Given the description of an element on the screen output the (x, y) to click on. 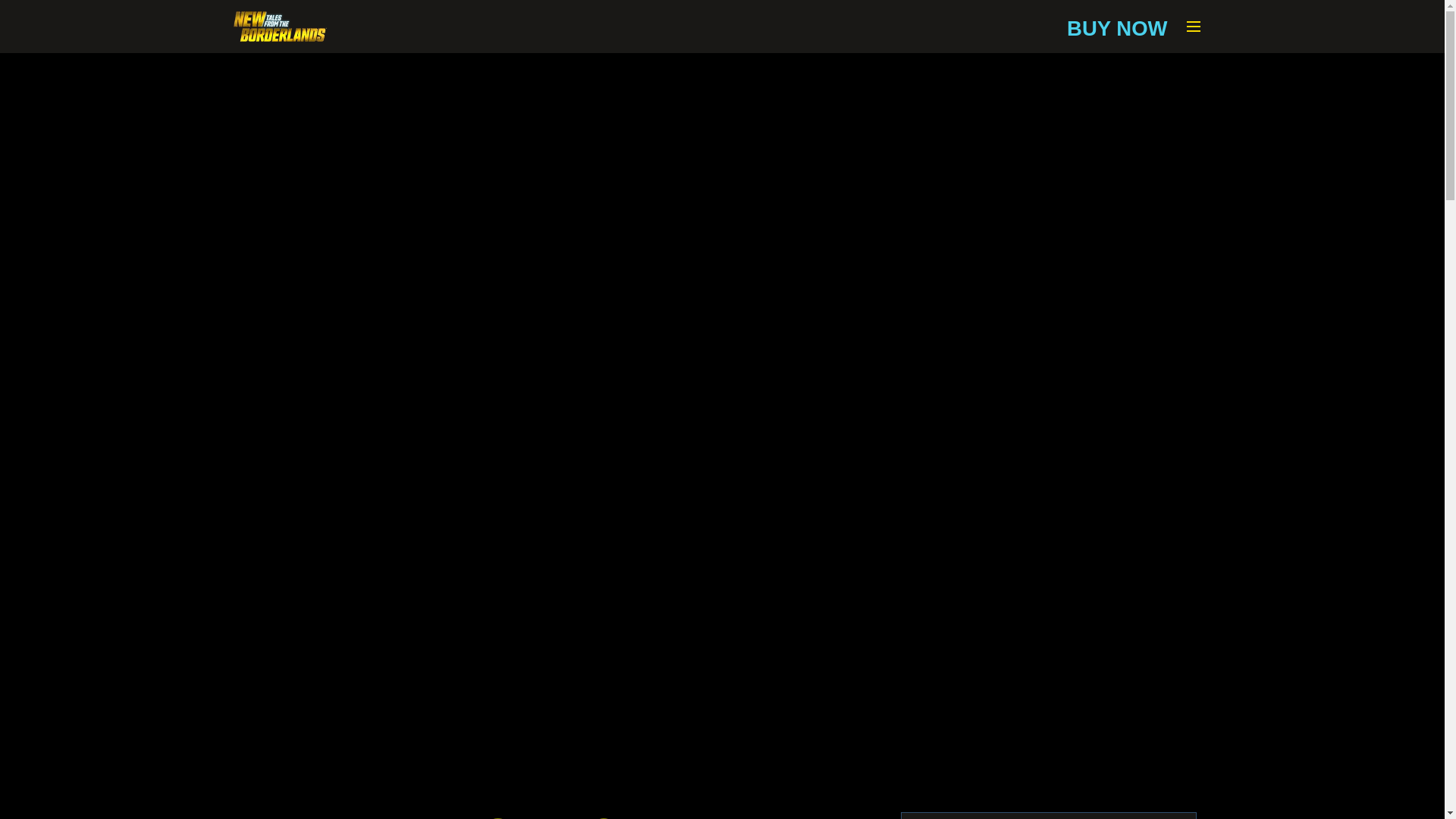
Tales From The Borderlands (279, 26)
Buy Now (1116, 28)
BUY NOW (1116, 28)
NEWS (289, 69)
NEWS (289, 69)
